Given the description of an element on the screen output the (x, y) to click on. 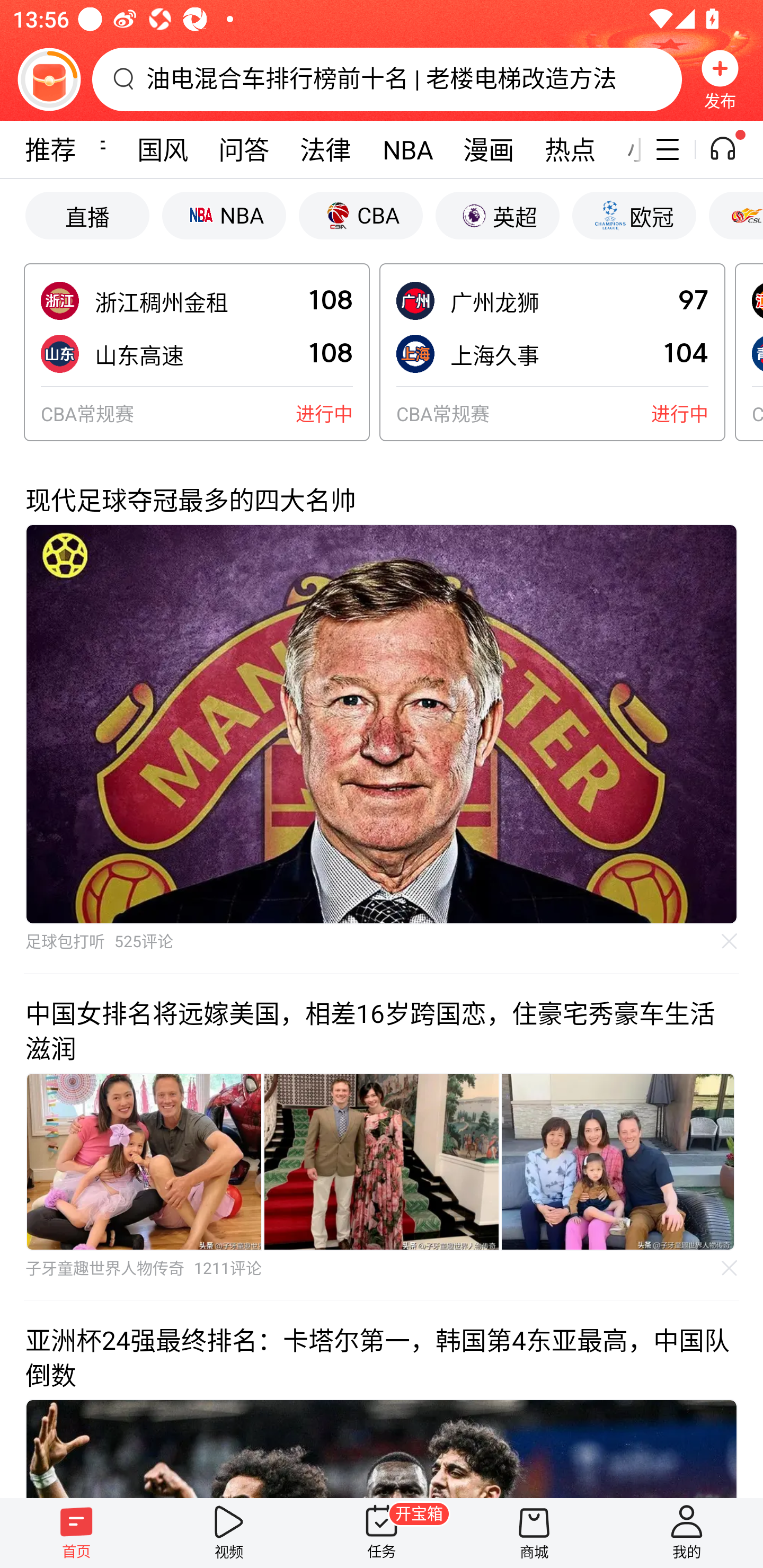
阅读赚金币 (48, 79)
油电混合车排行榜前十名 | 老楼电梯改造方法 搜索框，油电混合车排行榜前十名 | 老楼电梯改造方法 (387, 79)
发布 发布，按钮 (720, 78)
推荐 (49, 149)
国风 (162, 149)
问答 (243, 149)
法律 (325, 149)
NBA (407, 149)
漫画 (488, 149)
热点 (570, 149)
听一听开关 (732, 149)
直播 (87, 215)
NBA (223, 215)
CBA (360, 215)
英超 (497, 215)
欧冠 (633, 215)
现代足球夺冠最多的四大名帅 作者为  足球包打听  525评论   不感兴趣 (381, 716)
不感兴趣 (729, 940)
内容图片 (143, 1161)
内容图片 (381, 1161)
内容图片 (617, 1161)
不感兴趣 (729, 1268)
亚洲杯24强最终排名：卡塔尔第一，韩国第4东亚最高，中国队倒数 (381, 1398)
首页 (76, 1532)
视频 (228, 1532)
任务 开宝箱 (381, 1532)
商城 (533, 1532)
我的 (686, 1532)
